Given the description of an element on the screen output the (x, y) to click on. 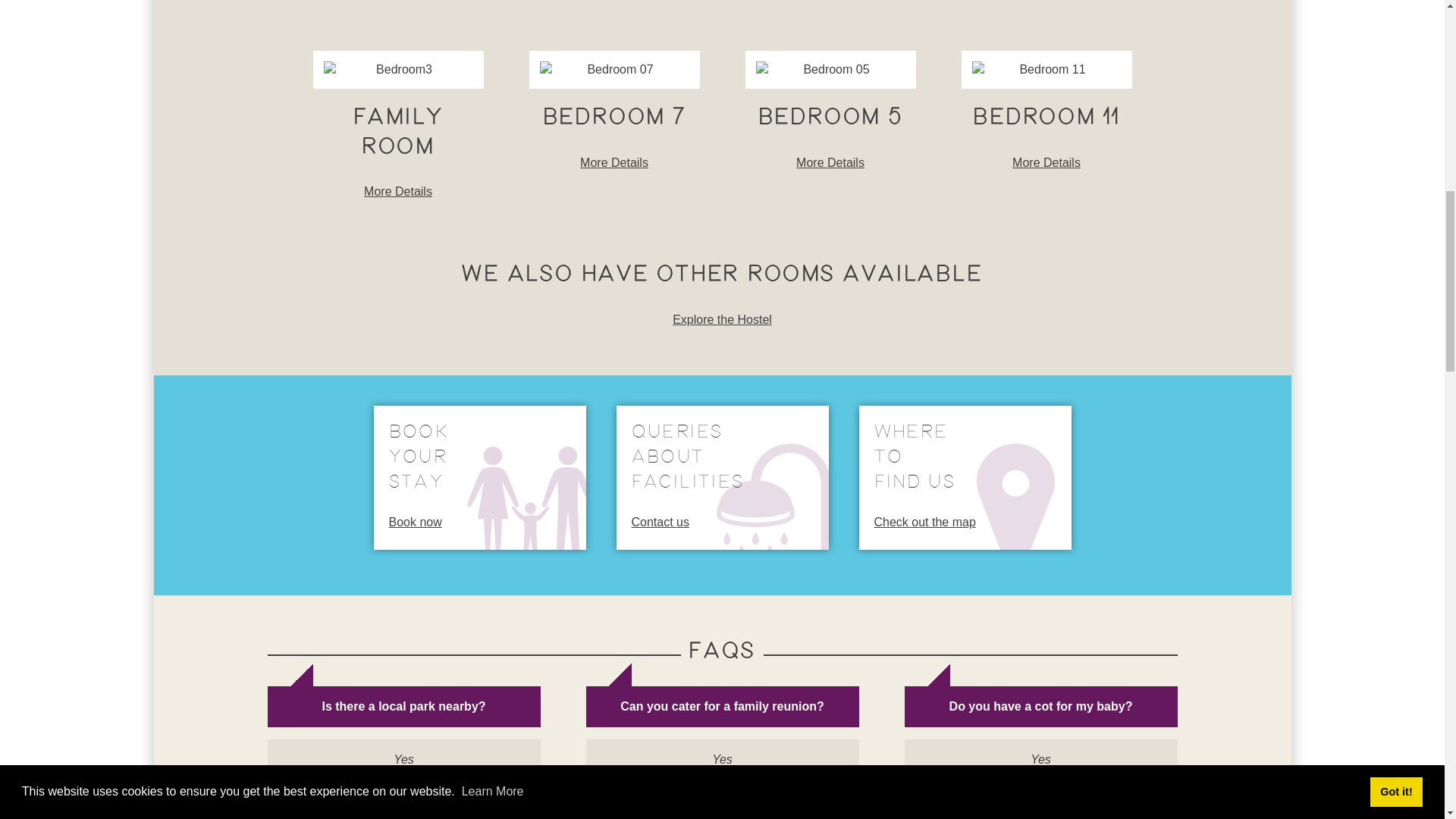
Explore the Hostel (964, 477)
More Details (721, 318)
More Details (1045, 162)
More Details (478, 477)
More Details (721, 477)
